Given the description of an element on the screen output the (x, y) to click on. 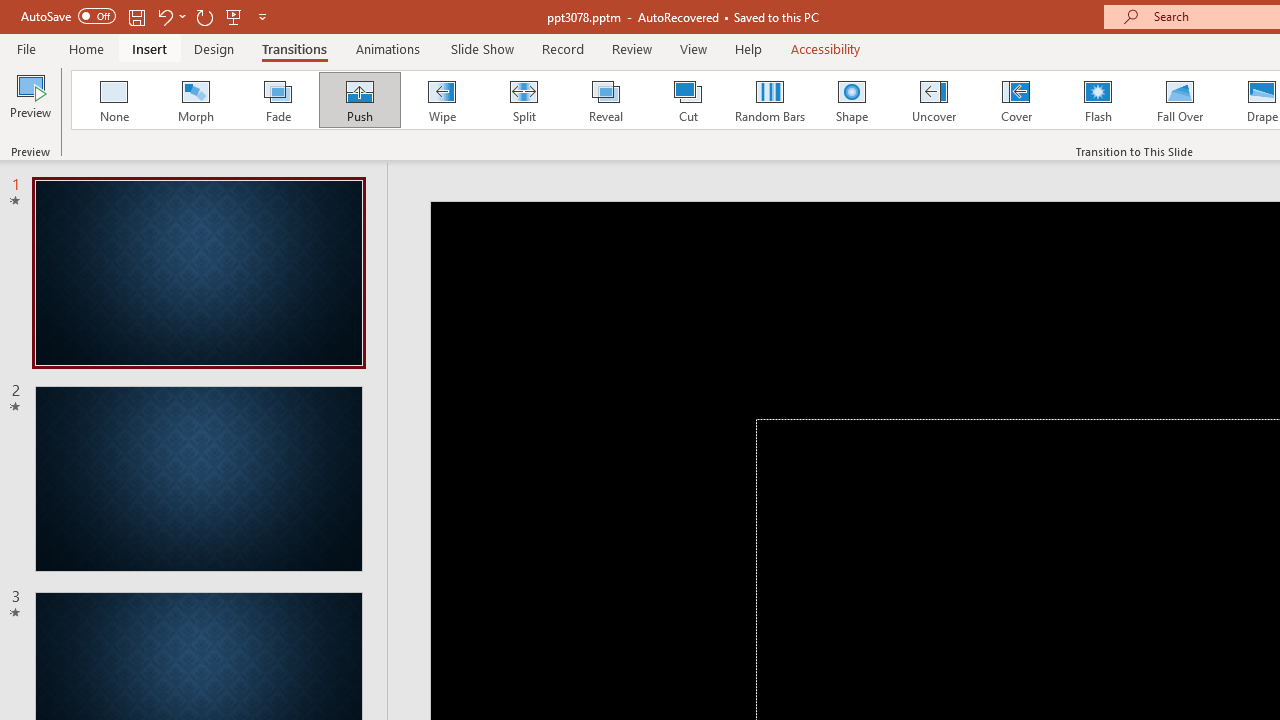
Fade (277, 100)
Shape (852, 100)
Wipe (441, 100)
None (113, 100)
